Given the description of an element on the screen output the (x, y) to click on. 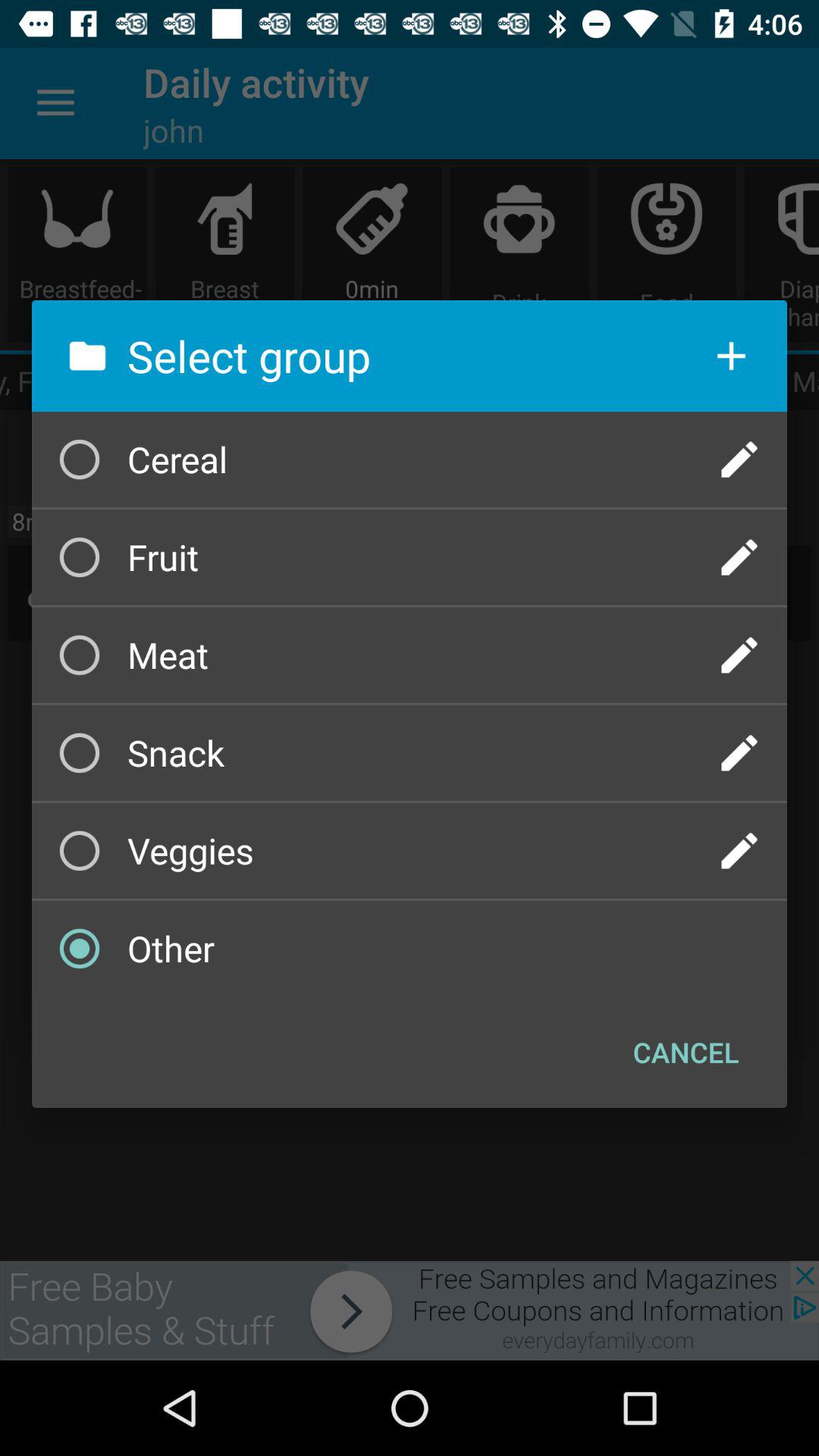
edit group name (739, 459)
